Given the description of an element on the screen output the (x, y) to click on. 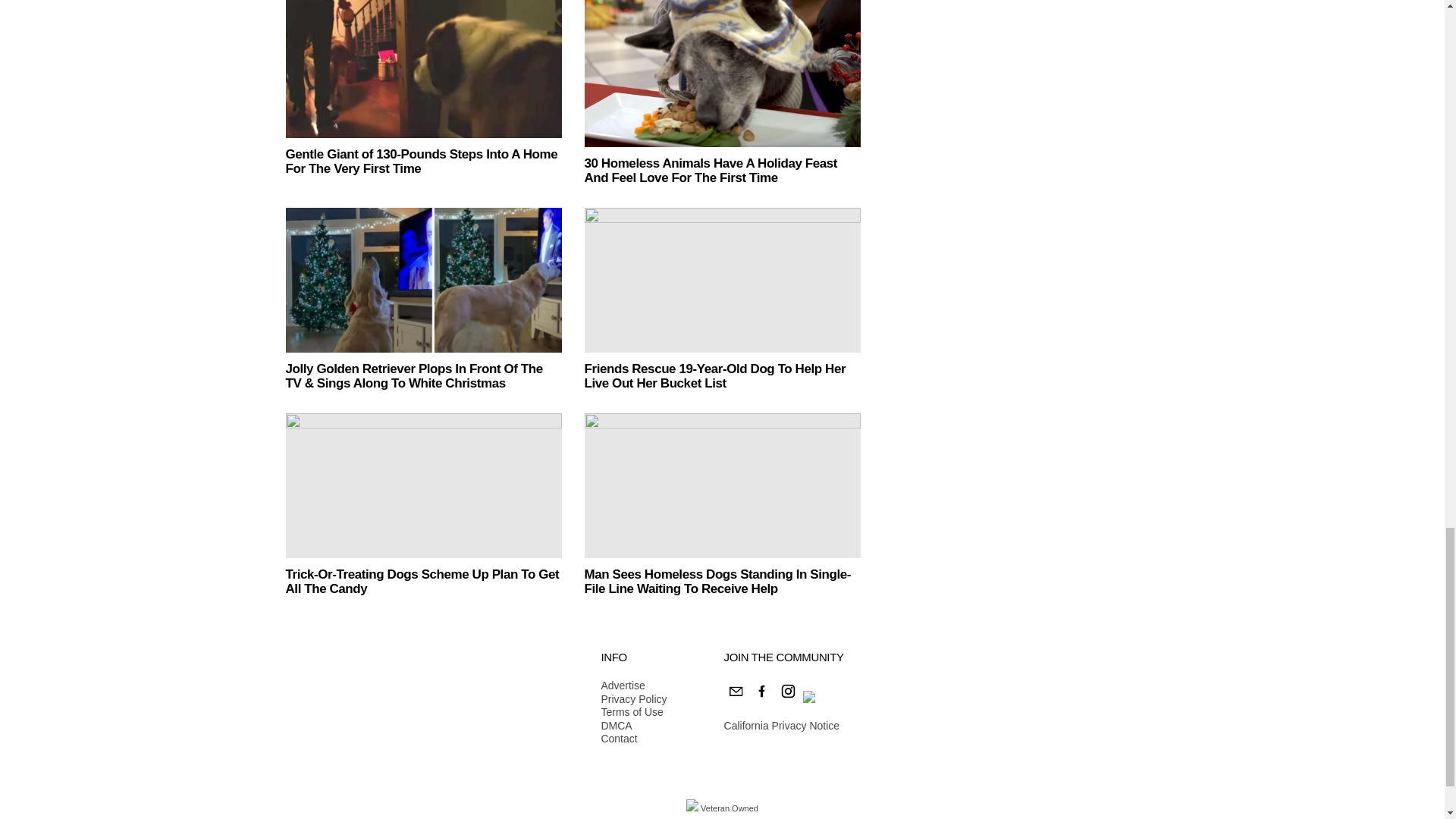
Contact (632, 739)
Privacy Policy (632, 699)
Trick-Or-Treating Dogs Scheme Up Plan To Get All The Candy (422, 485)
DMCA (632, 726)
California Privacy Notice (781, 725)
